Given the description of an element on the screen output the (x, y) to click on. 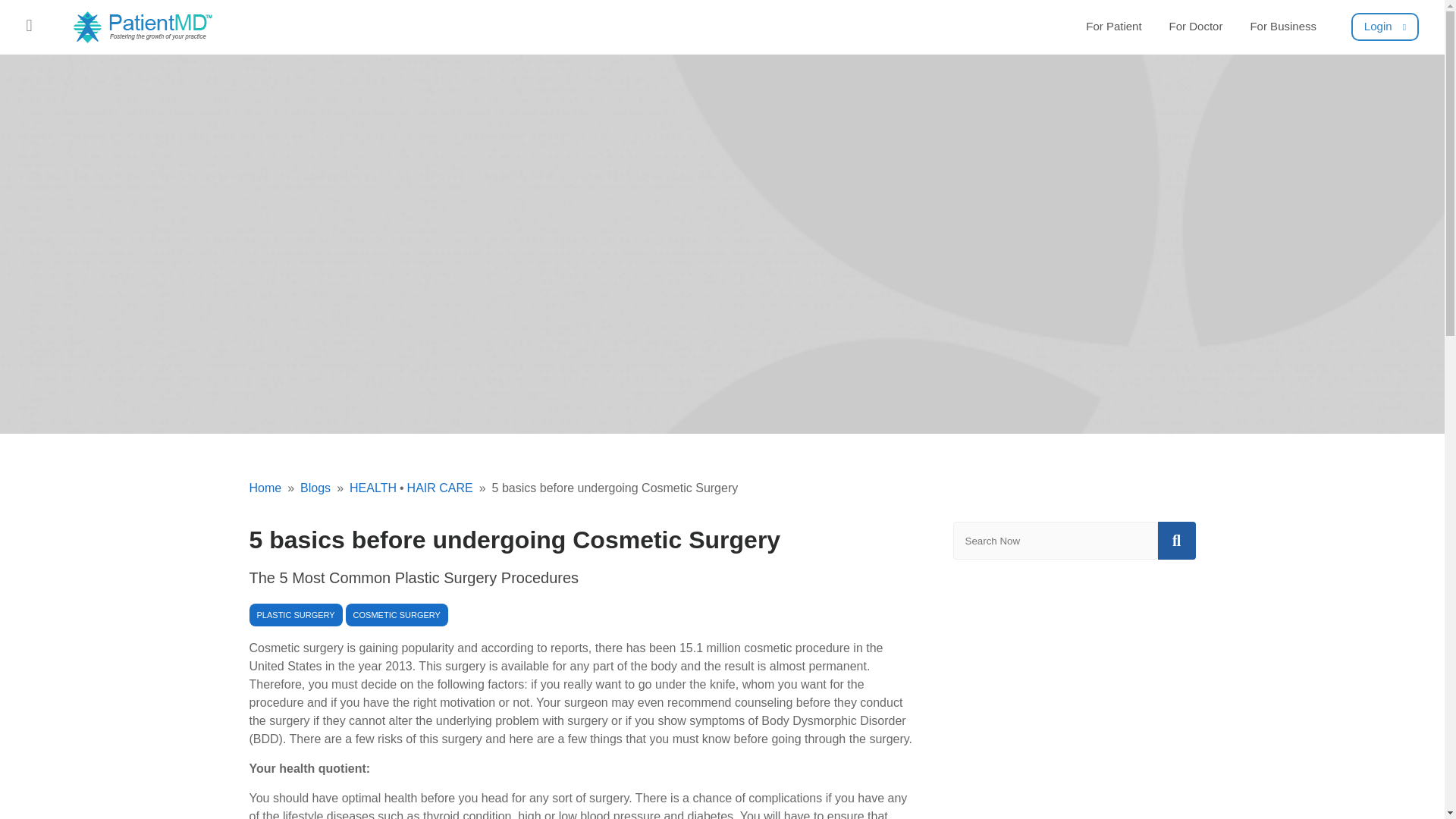
5 basics before undergoing Cosmetic Surgery (605, 487)
HEALTH (363, 487)
For Patient (1113, 26)
Toggle side menu (28, 24)
Blogs (305, 487)
For Business (1282, 26)
COSMETIC SURGERY (397, 614)
For Doctor (1195, 26)
Home (264, 487)
PLASTIC SURGERY (295, 614)
